Given the description of an element on the screen output the (x, y) to click on. 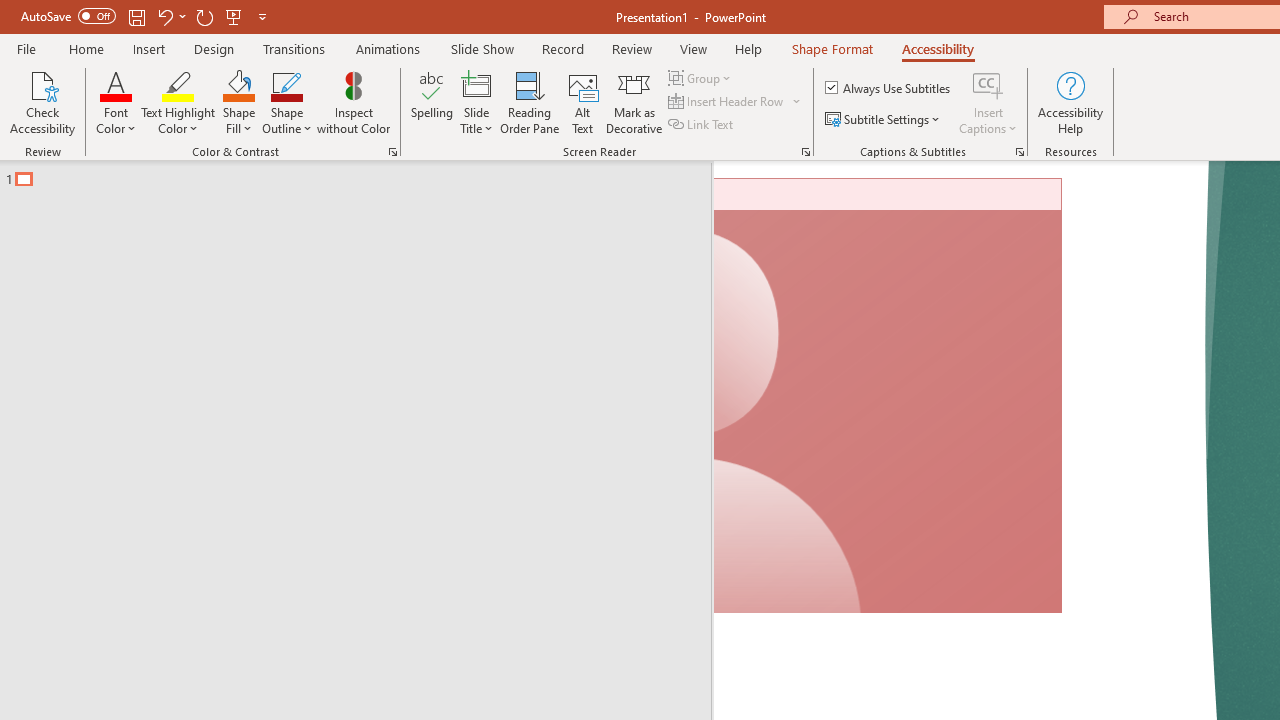
Link Text (702, 124)
Reading Order Pane (529, 102)
Captions & Subtitles (1019, 151)
